Given the description of an element on the screen output the (x, y) to click on. 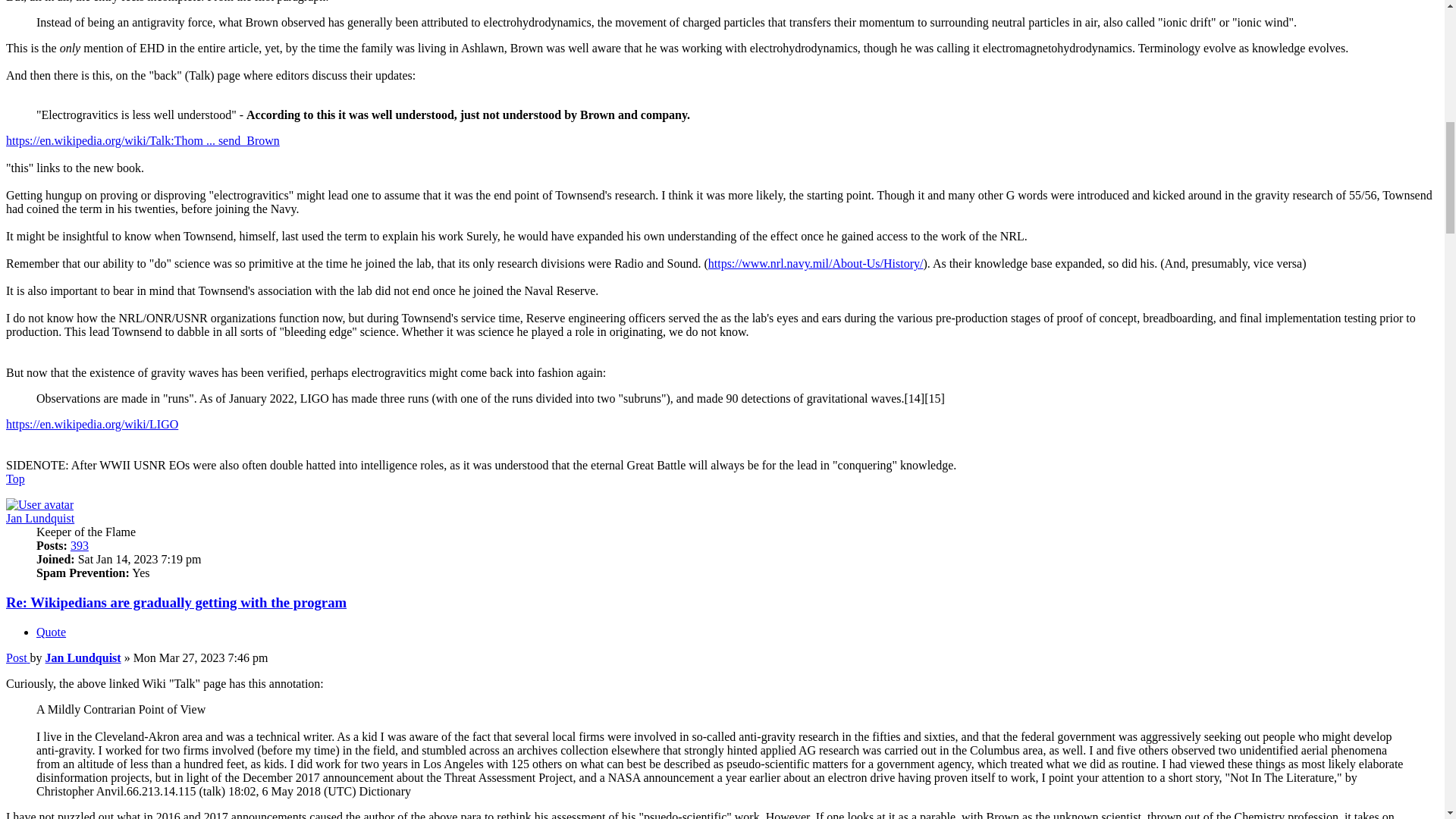
Re: Wikipedians are gradually getting with the program (175, 602)
Jan Lundquist (39, 517)
Top (14, 478)
Reply with quote (50, 631)
Post (17, 657)
Top (14, 478)
393 (78, 545)
